Given the description of an element on the screen output the (x, y) to click on. 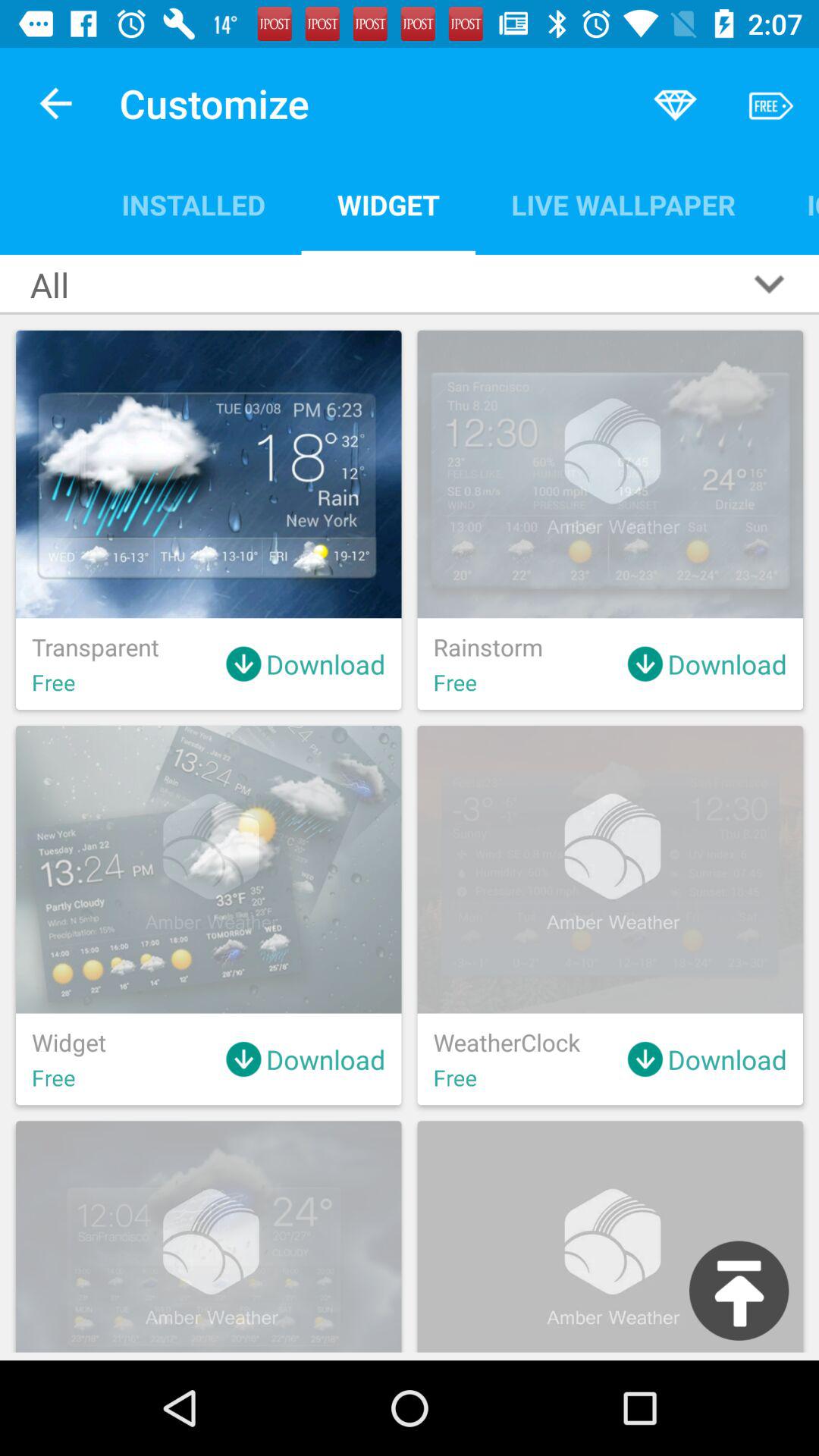
click live wallpaper item (623, 204)
